Given the description of an element on the screen output the (x, y) to click on. 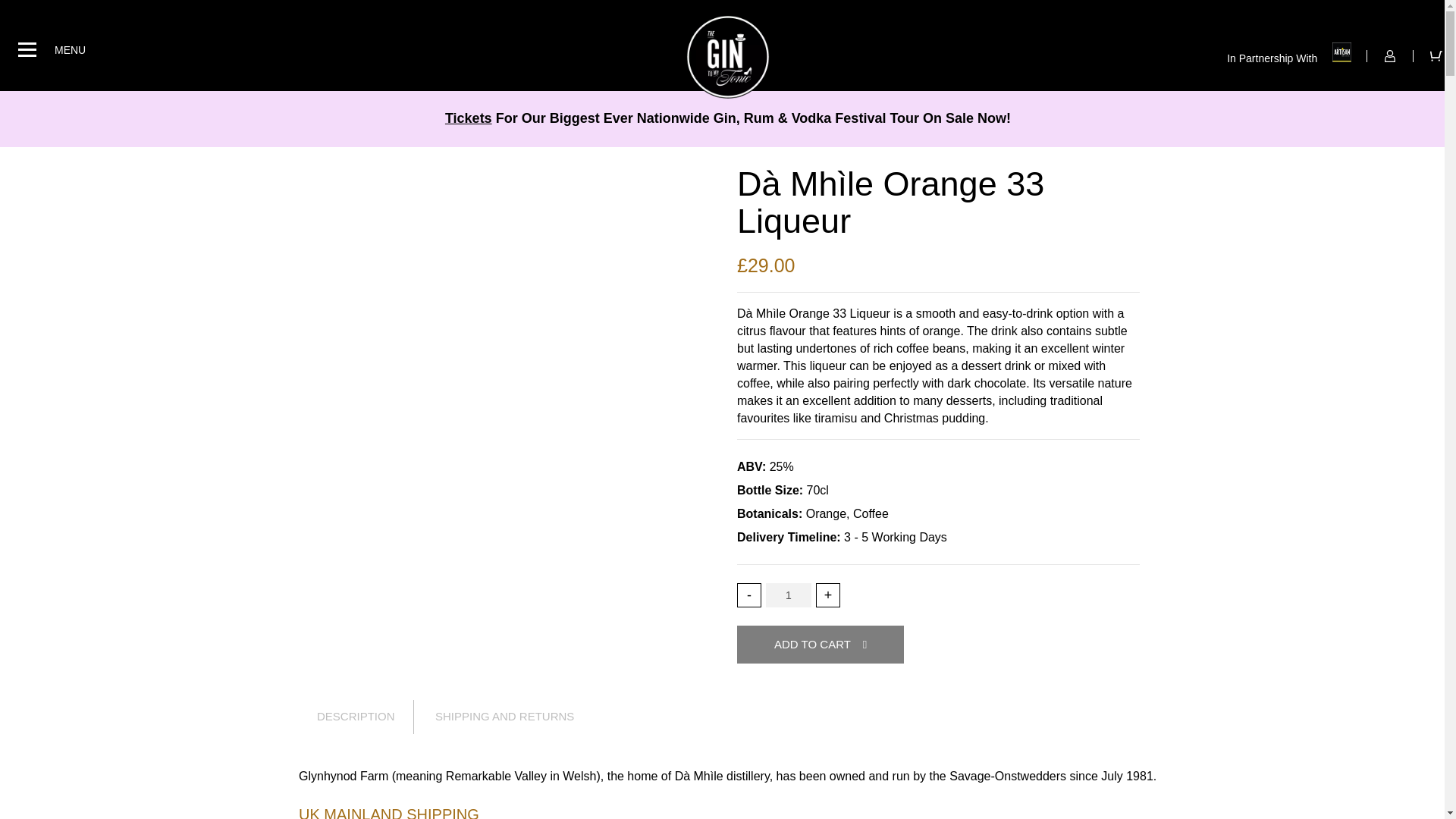
SHIPPING AND RETURNS (504, 716)
1 (787, 595)
Qty (787, 595)
Tickets (468, 118)
ADD TO CART (820, 644)
DESCRIPTION (365, 716)
